Given the description of an element on the screen output the (x, y) to click on. 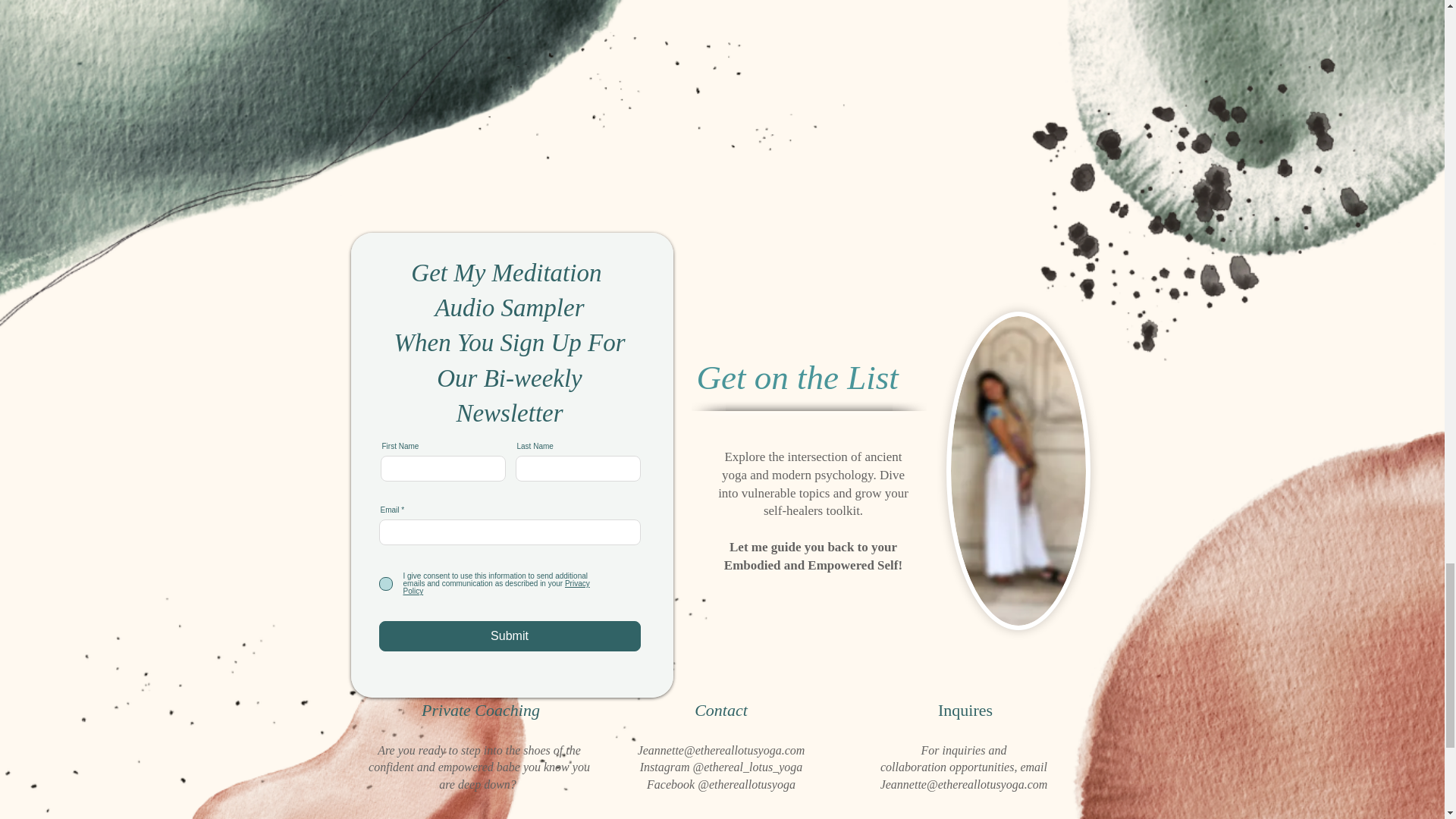
Privacy Policy (496, 587)
Submit (509, 635)
